Given the description of an element on the screen output the (x, y) to click on. 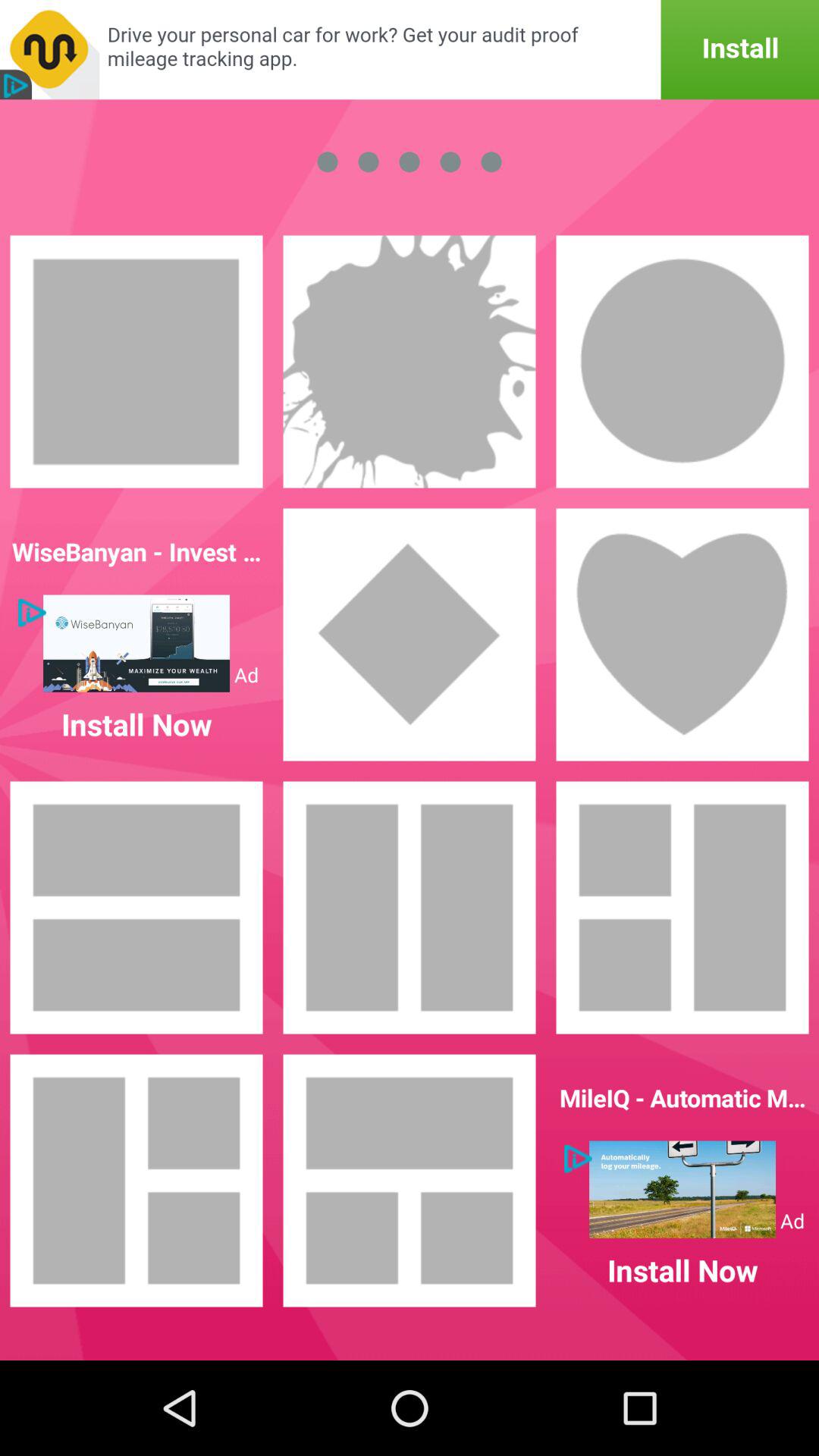
click on rhombus shape (409, 634)
click on first option in second row (136, 634)
select the second image in the last row (409, 1180)
click on install now at the bottom right of the page (682, 1180)
